Given the description of an element on the screen output the (x, y) to click on. 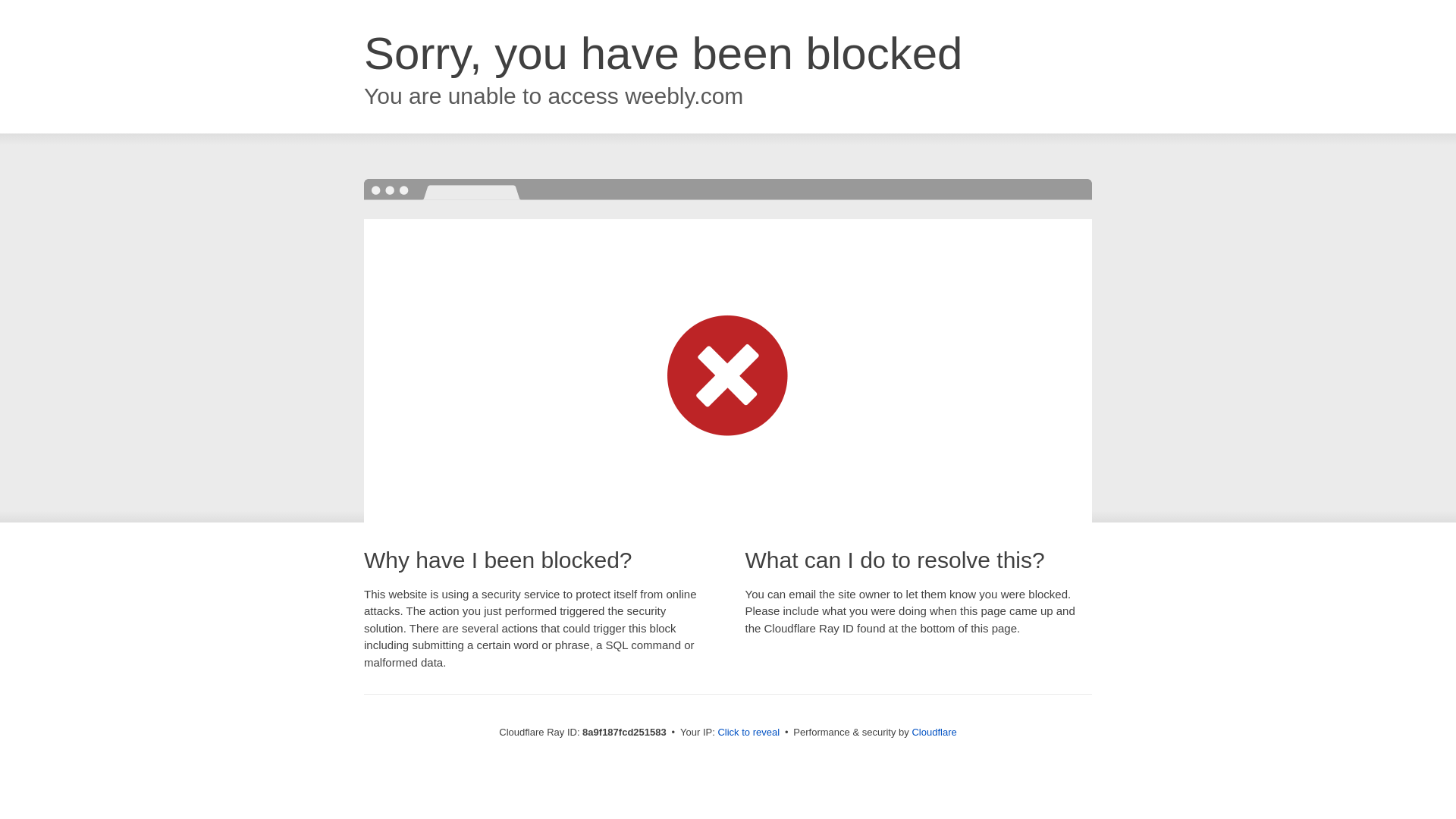
Click to reveal (747, 732)
Cloudflare (933, 731)
